Given the description of an element on the screen output the (x, y) to click on. 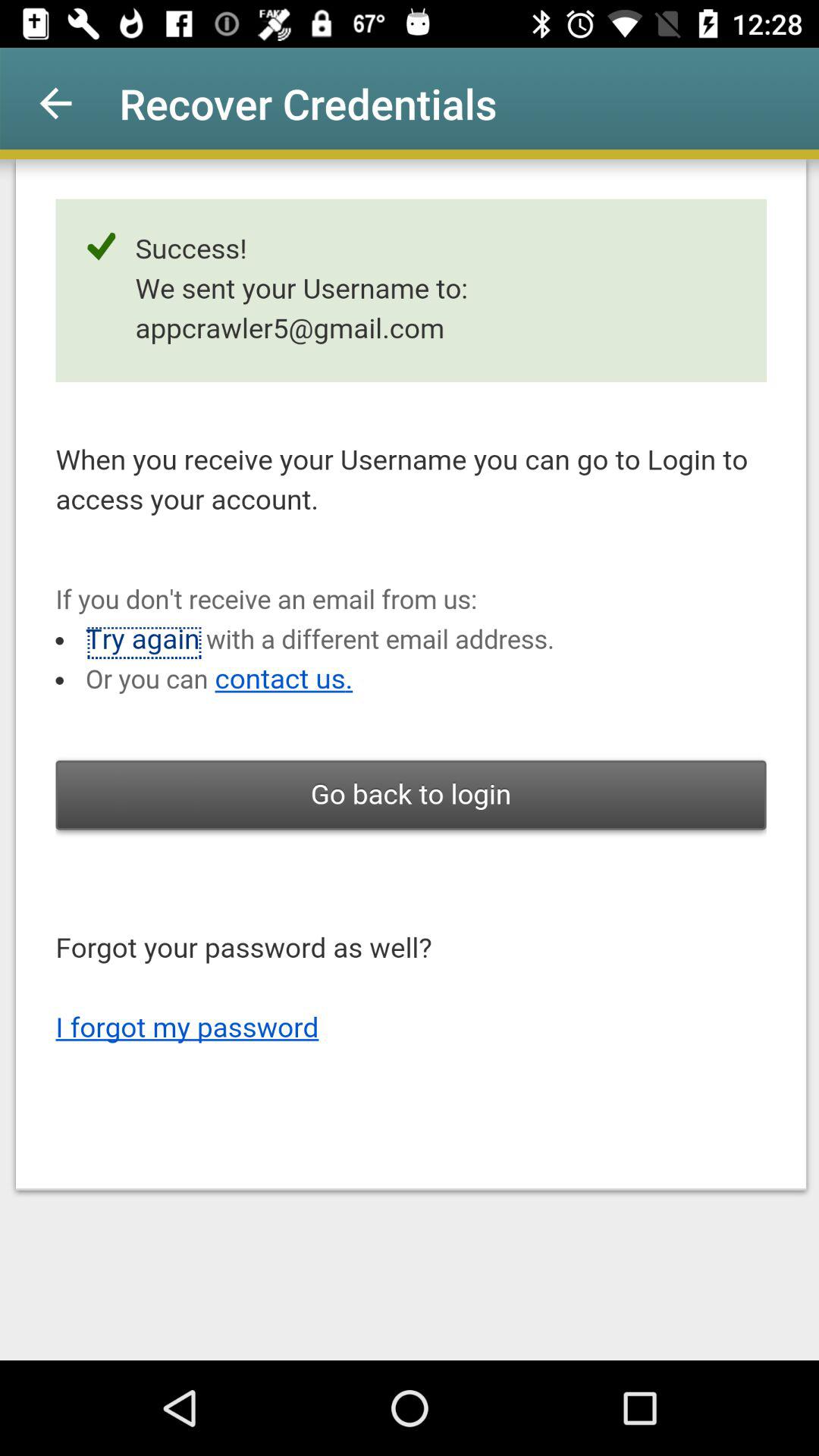
choose icon at the top left corner (55, 103)
